Given the description of an element on the screen output the (x, y) to click on. 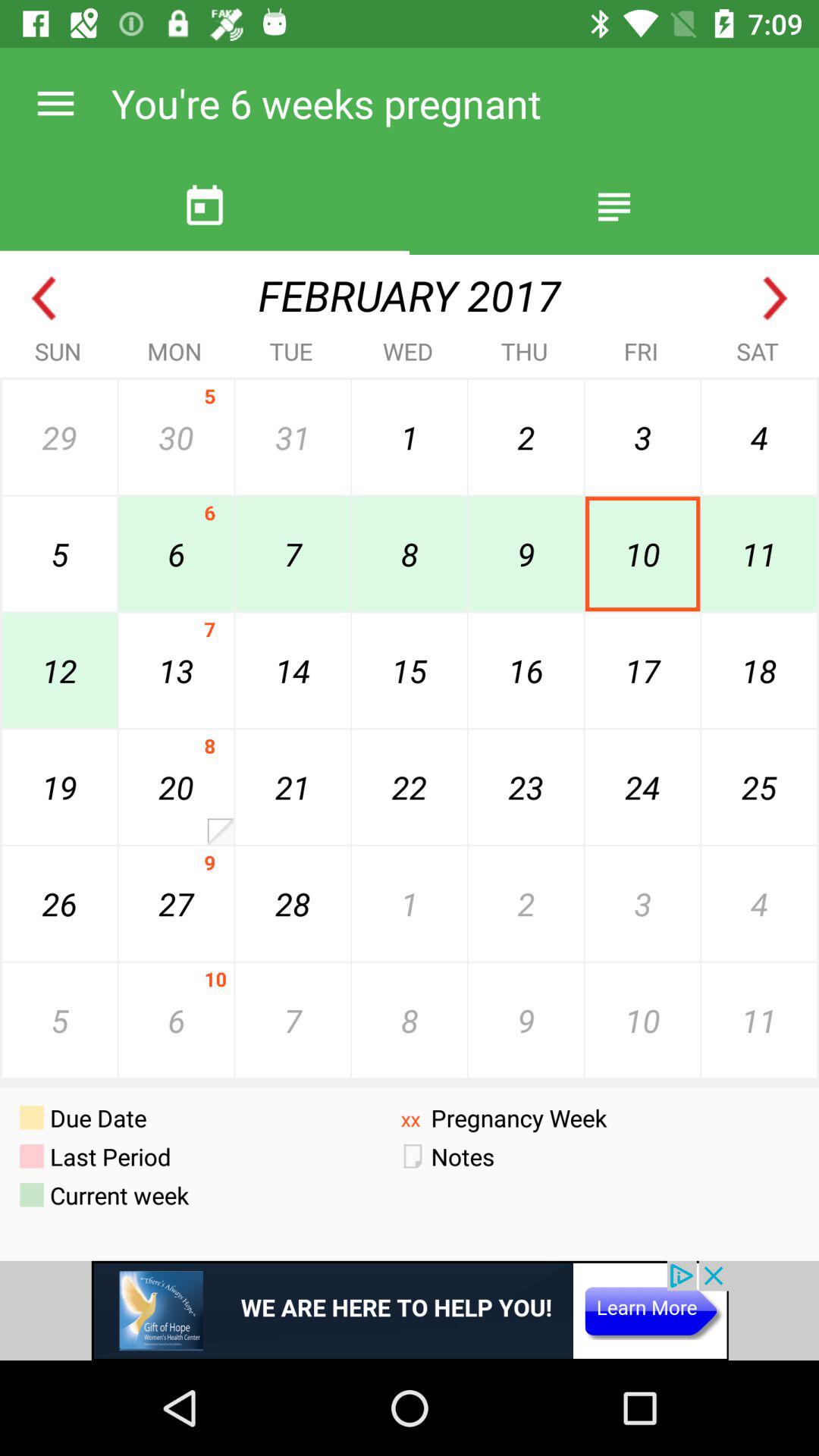
fo to previous month (43, 298)
